Given the description of an element on the screen output the (x, y) to click on. 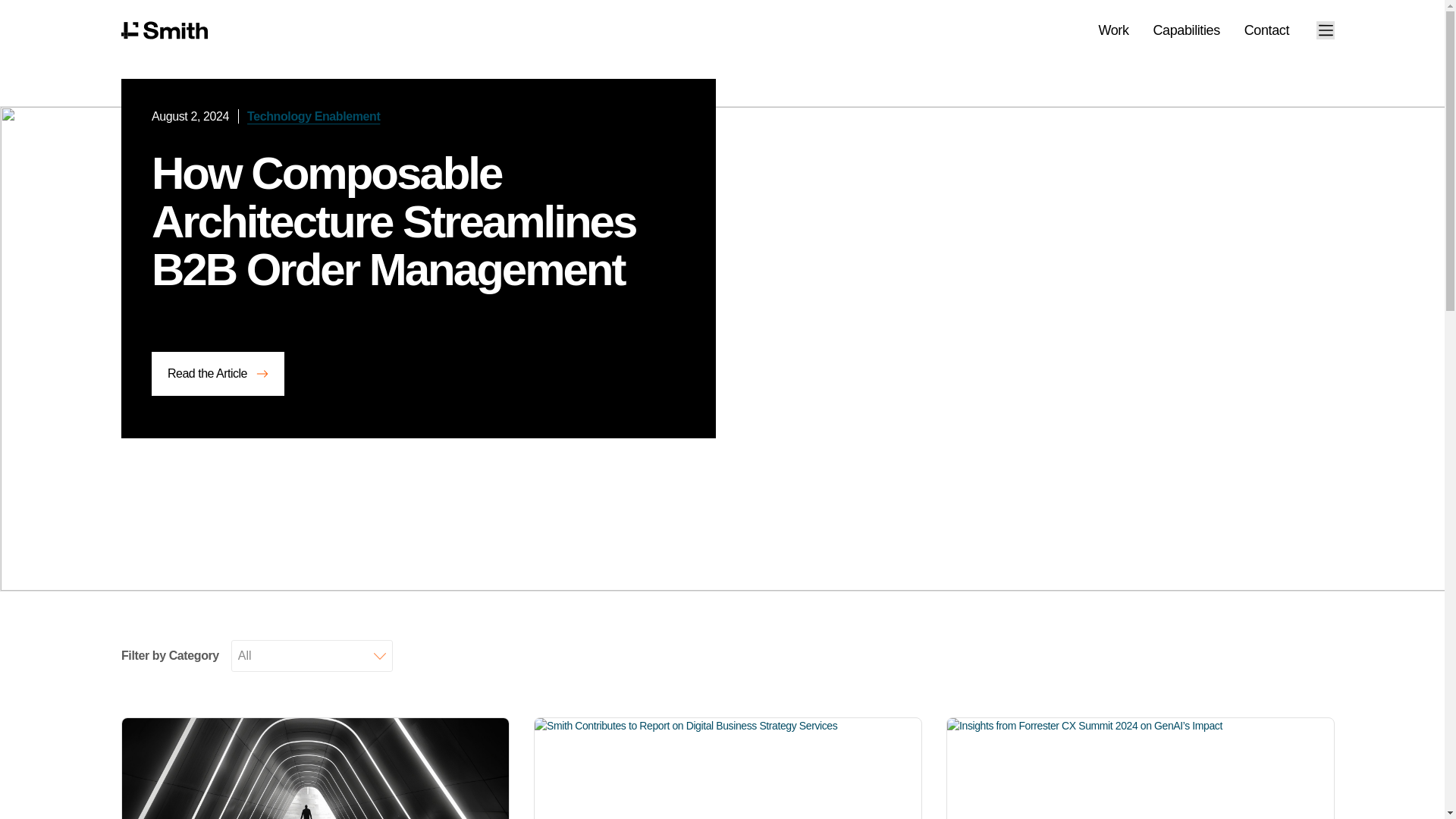
Smith (164, 30)
Contact (1266, 29)
Smith (164, 30)
Technology Enablement (313, 115)
Work (1112, 29)
Capabilities (1186, 29)
